Given the description of an element on the screen output the (x, y) to click on. 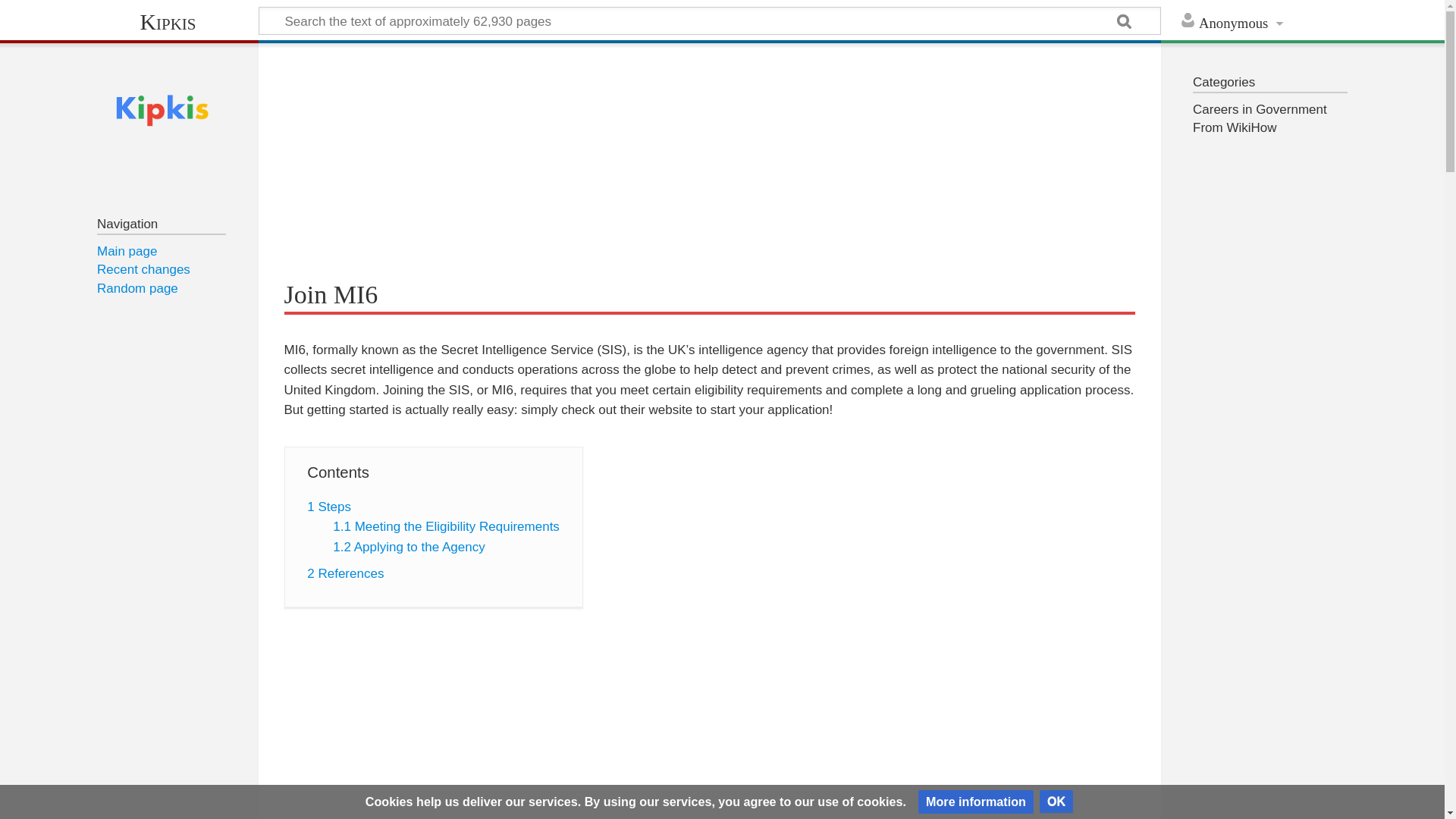
OK (1056, 801)
Kipkis (167, 21)
1.1 Meeting the Eligibility Requirements (446, 526)
Recent changes (143, 269)
Visit the main page (161, 110)
Main page (127, 251)
1 Steps (328, 506)
Search the pages for this text (1124, 23)
Go (1124, 23)
OK (1056, 801)
Random page (137, 288)
Search (1124, 23)
2 References (345, 573)
1.2 Applying to the Agency (408, 546)
Go (1124, 23)
